Given the description of an element on the screen output the (x, y) to click on. 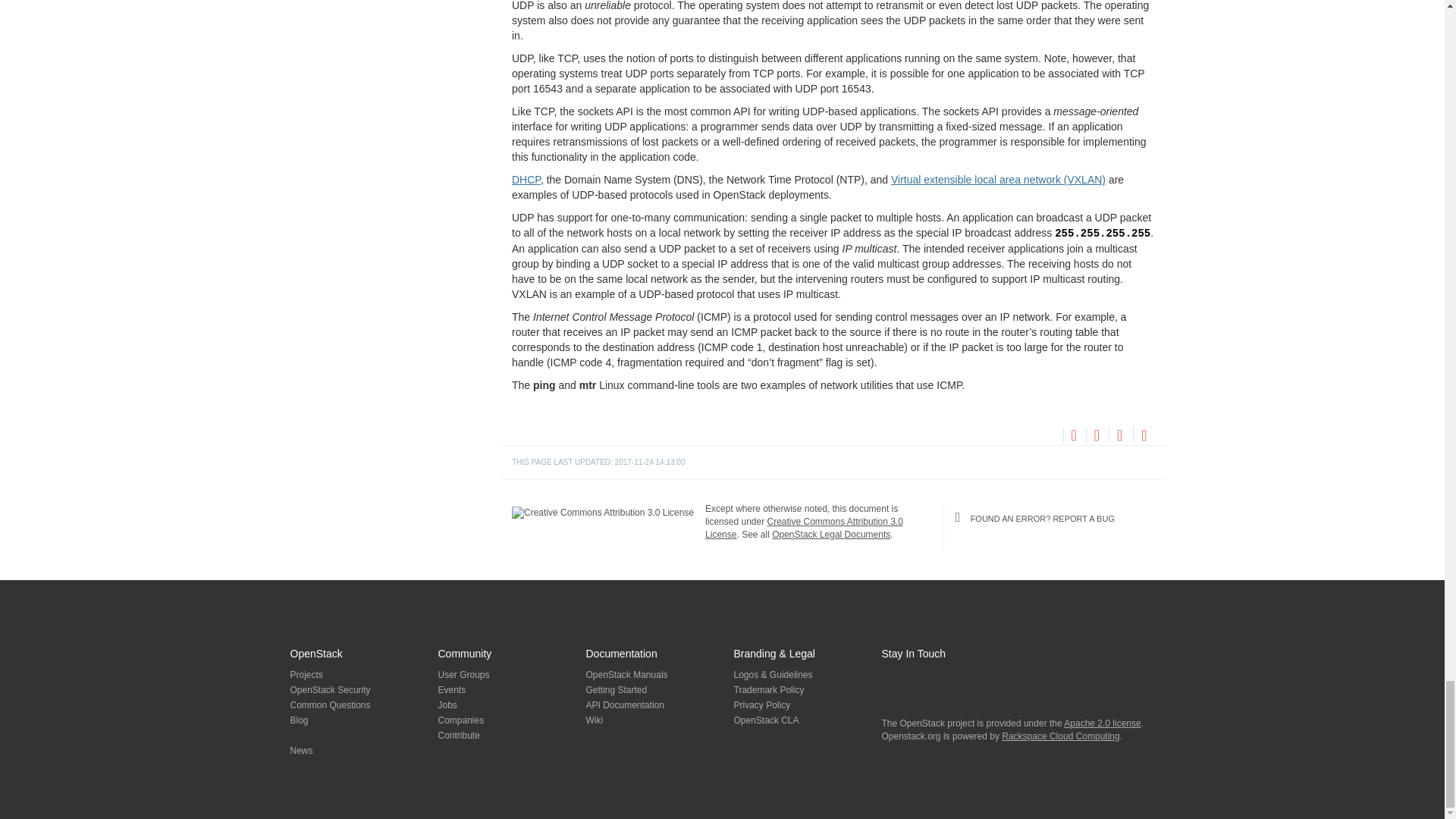
Previous: Introduction (1072, 435)
Download the manuals as PDF (1118, 436)
Next: Network components (1095, 435)
